Given the description of an element on the screen output the (x, y) to click on. 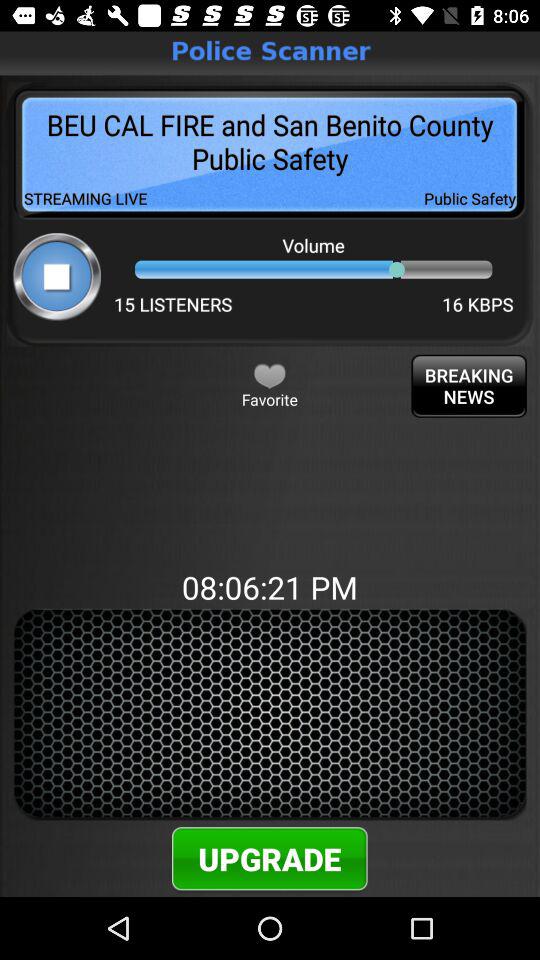
select stop option (56, 276)
